Given the description of an element on the screen output the (x, y) to click on. 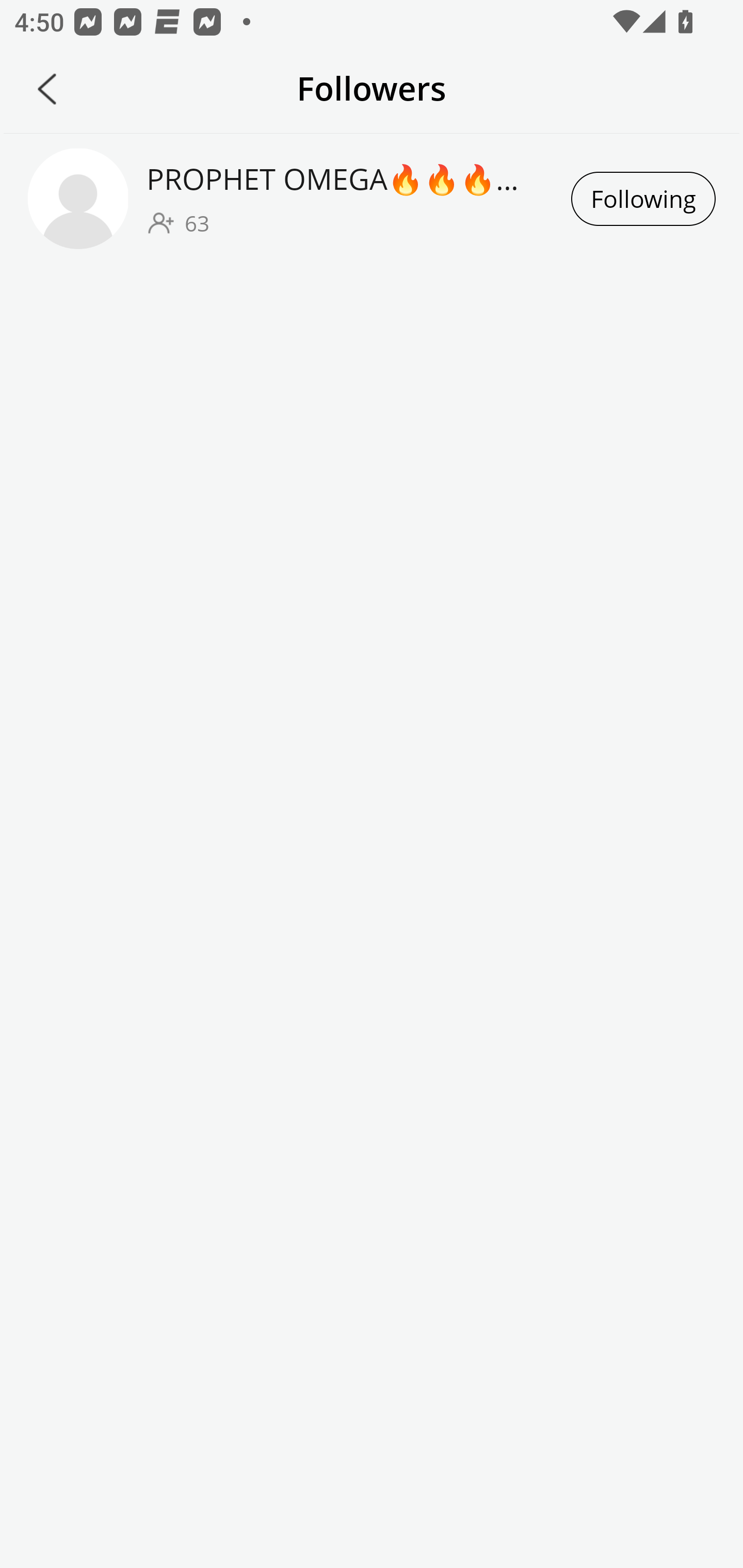
Back (46, 88)
PROPHET OMEGA🔥🔥🔥🔥🔥 63 Following (371, 198)
Following (643, 198)
